Given the description of an element on the screen output the (x, y) to click on. 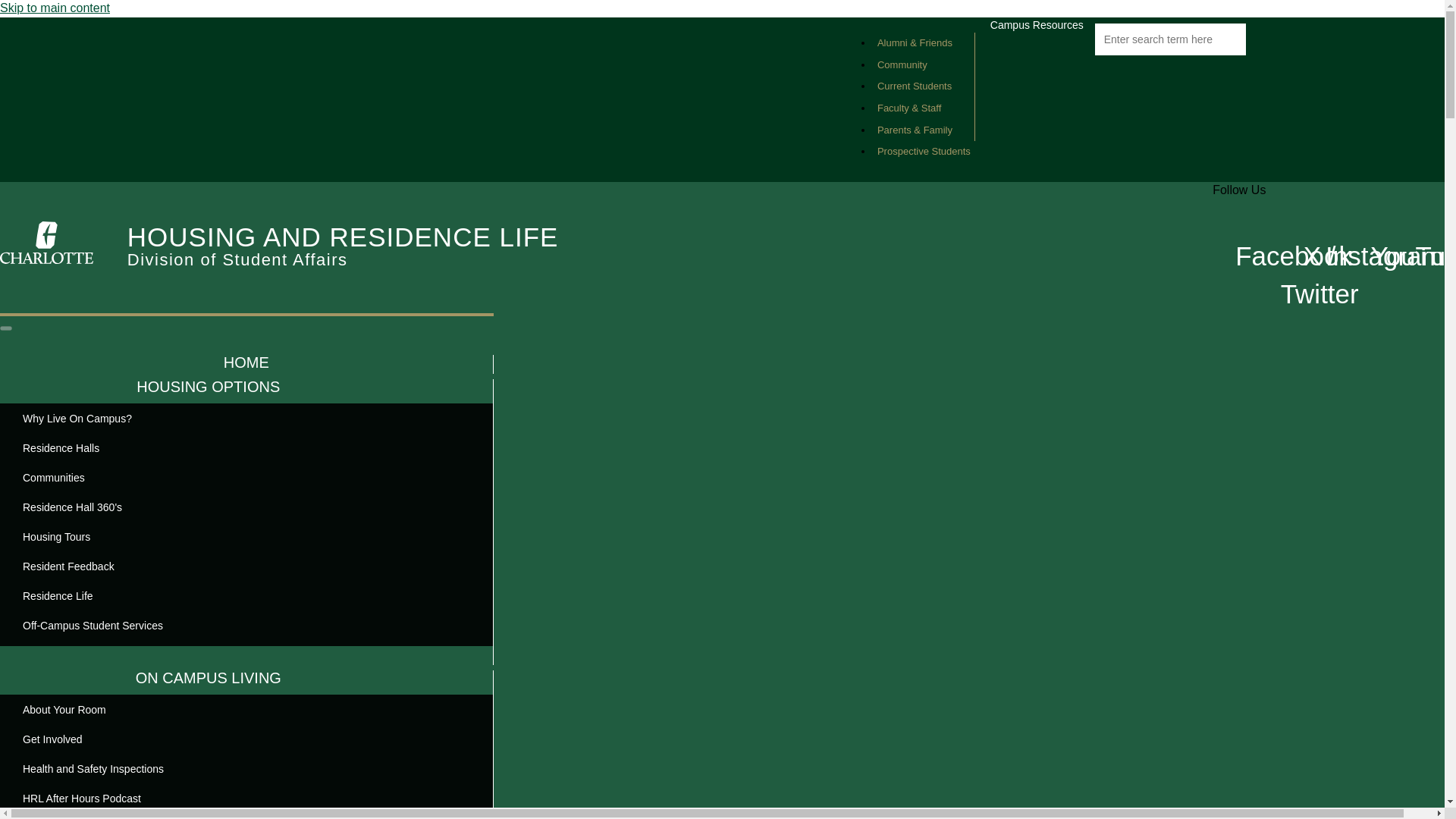
Residence Hall 360's (256, 507)
Residence Halls (256, 448)
ON CAMPUS LIVING (208, 677)
Go to University of North Carolina Charlotte homepage (52, 250)
Current Students (914, 85)
Campus Resources (1029, 24)
Current Students (914, 85)
Community (901, 64)
Communities (256, 477)
HOUSING OPTIONS (208, 386)
HOUSING AND RESIDENCE LIFE (343, 236)
About Your Room (218, 709)
HOME (246, 362)
Resident Feedback (256, 566)
Why Live On Campus? (256, 418)
